Given the description of an element on the screen output the (x, y) to click on. 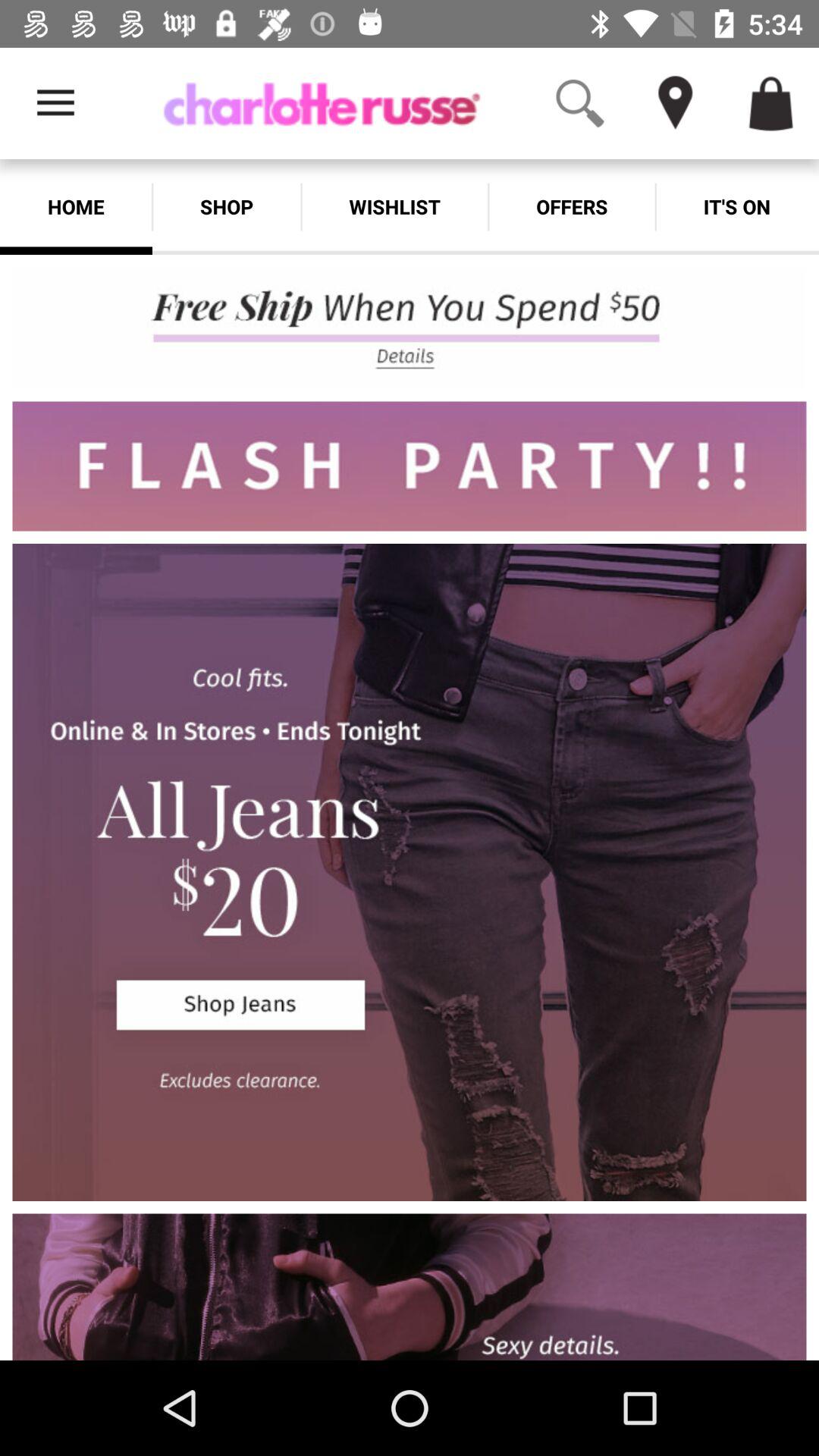
flip until shop icon (226, 206)
